Given the description of an element on the screen output the (x, y) to click on. 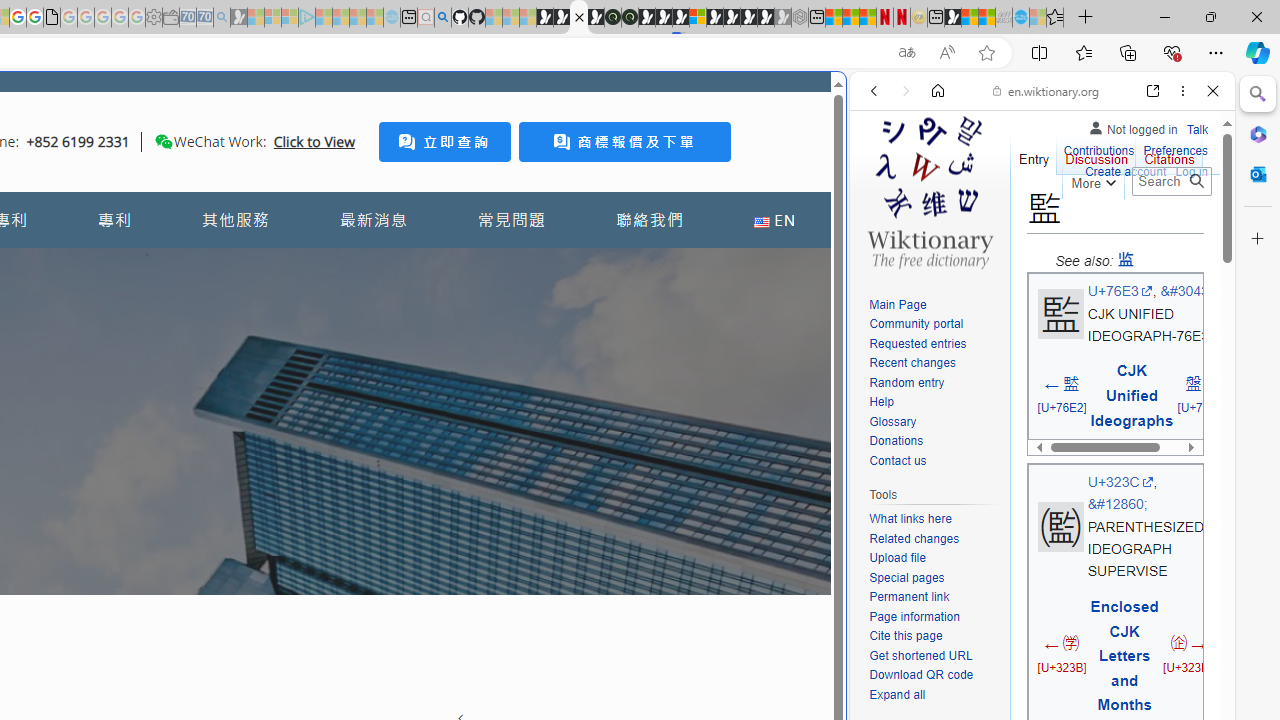
Citations (1169, 154)
Enclosed CJK Letters and Months (1124, 655)
Download QR code (934, 676)
Visit the main page (929, 190)
More (1092, 179)
